Given the description of an element on the screen output the (x, y) to click on. 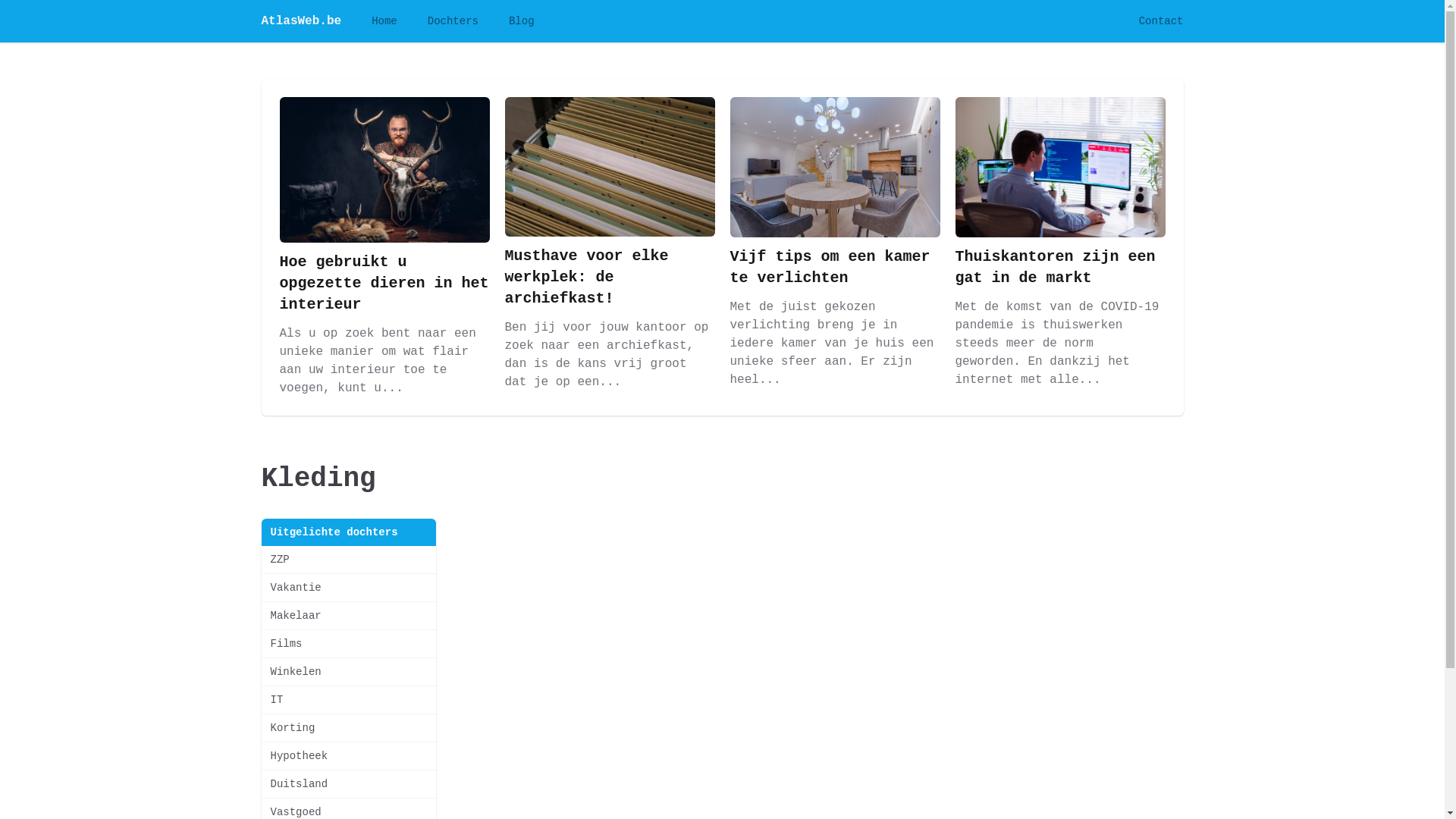
Hypotheek Element type: text (347, 755)
Makelaar Element type: text (347, 615)
Films Element type: text (347, 643)
Dochters Element type: text (452, 20)
IT Element type: text (347, 699)
Winkelen Element type: text (347, 671)
ZZP Element type: text (347, 559)
Contact Element type: text (1161, 20)
Blog Element type: text (521, 20)
AtlasWeb.be Element type: text (300, 21)
Duitsland Element type: text (347, 783)
Vakantie Element type: text (347, 587)
Home Element type: text (384, 20)
Korting Element type: text (347, 727)
